Given the description of an element on the screen output the (x, y) to click on. 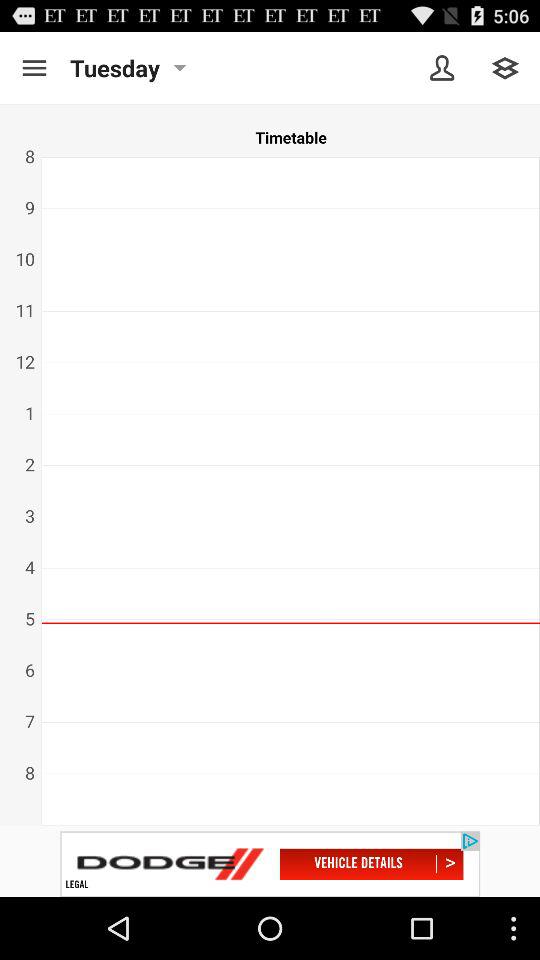
advertisement link (270, 864)
